Given the description of an element on the screen output the (x, y) to click on. 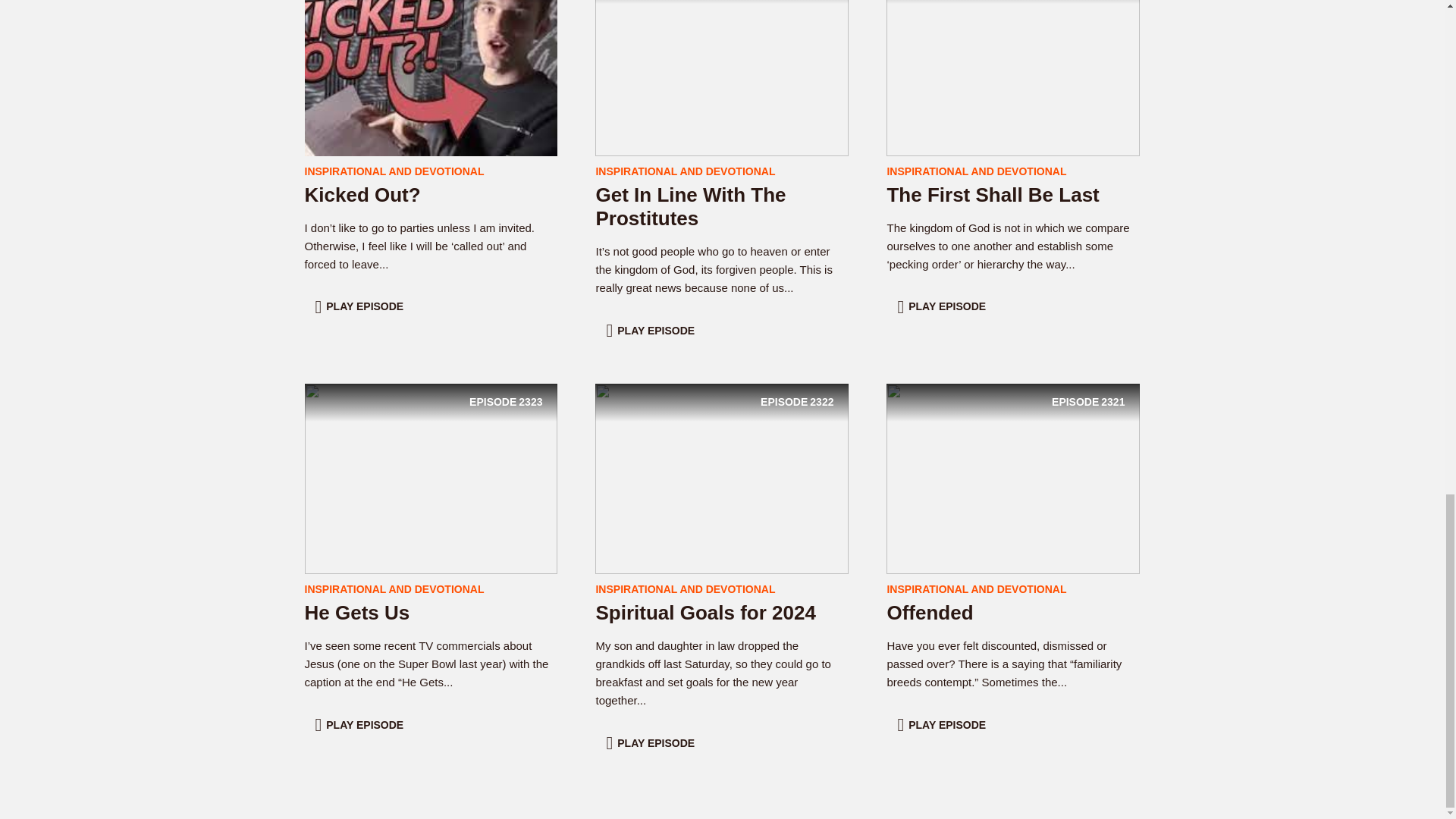
PLAY EPISODE (1013, 59)
Spiritual Goals for 2024 (361, 725)
INSPIRATIONAL AND DEVOTIONAL (705, 612)
PLAY EPISODE (975, 171)
INSPIRATIONAL AND DEVOTIONAL (943, 306)
PLAY EPISODE (721, 477)
